Given the description of an element on the screen output the (x, y) to click on. 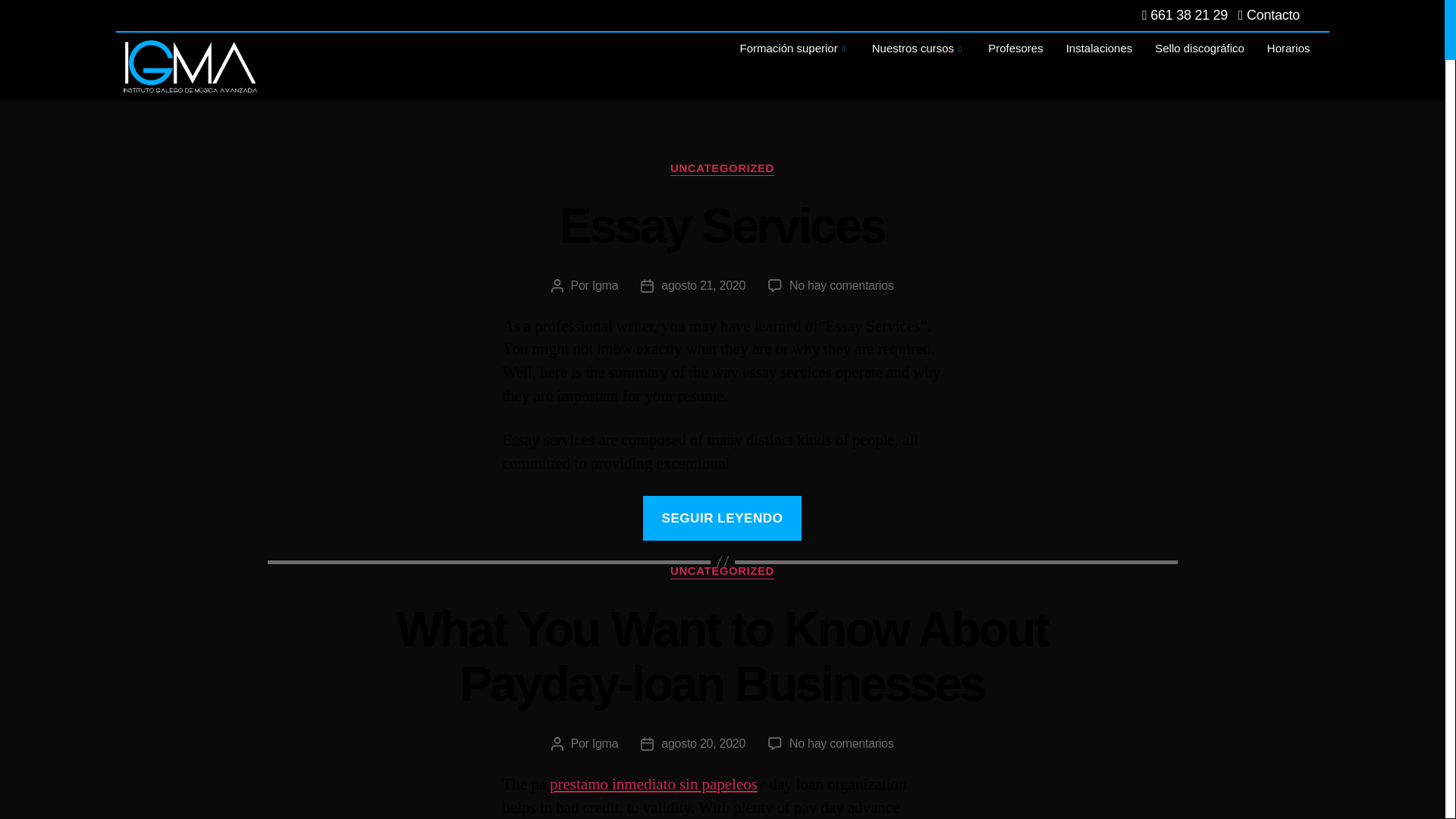
Instalaciones (1099, 48)
661 38 21 29 (1184, 14)
agosto 20, 2020 (703, 743)
What You Want to Know About Payday-loan Businesses (722, 656)
Nuestros cursos (918, 48)
Profesores (1015, 48)
Essay Services (722, 226)
SEGUIR LEYENDO (722, 516)
Horarios (1288, 48)
No hay comentarios (841, 743)
